Given the description of an element on the screen output the (x, y) to click on. 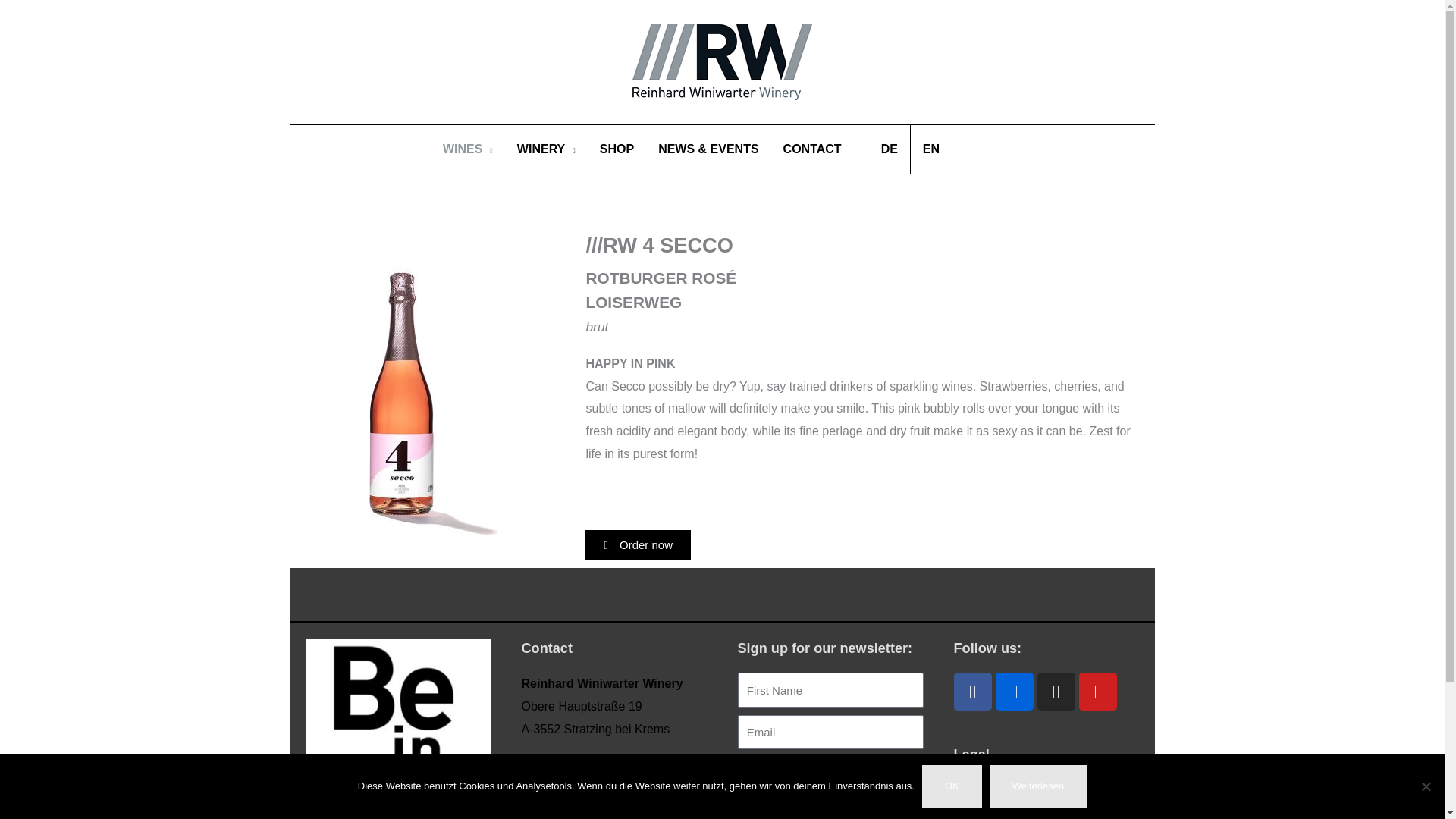
Flickr (1013, 691)
SHOP (617, 149)
Instagram (1055, 691)
Facebook (972, 691)
WINERY (546, 149)
on (741, 767)
CONTACT (812, 149)
Nein (1425, 785)
WINES (467, 149)
Order now (637, 544)
